Given the description of an element on the screen output the (x, y) to click on. 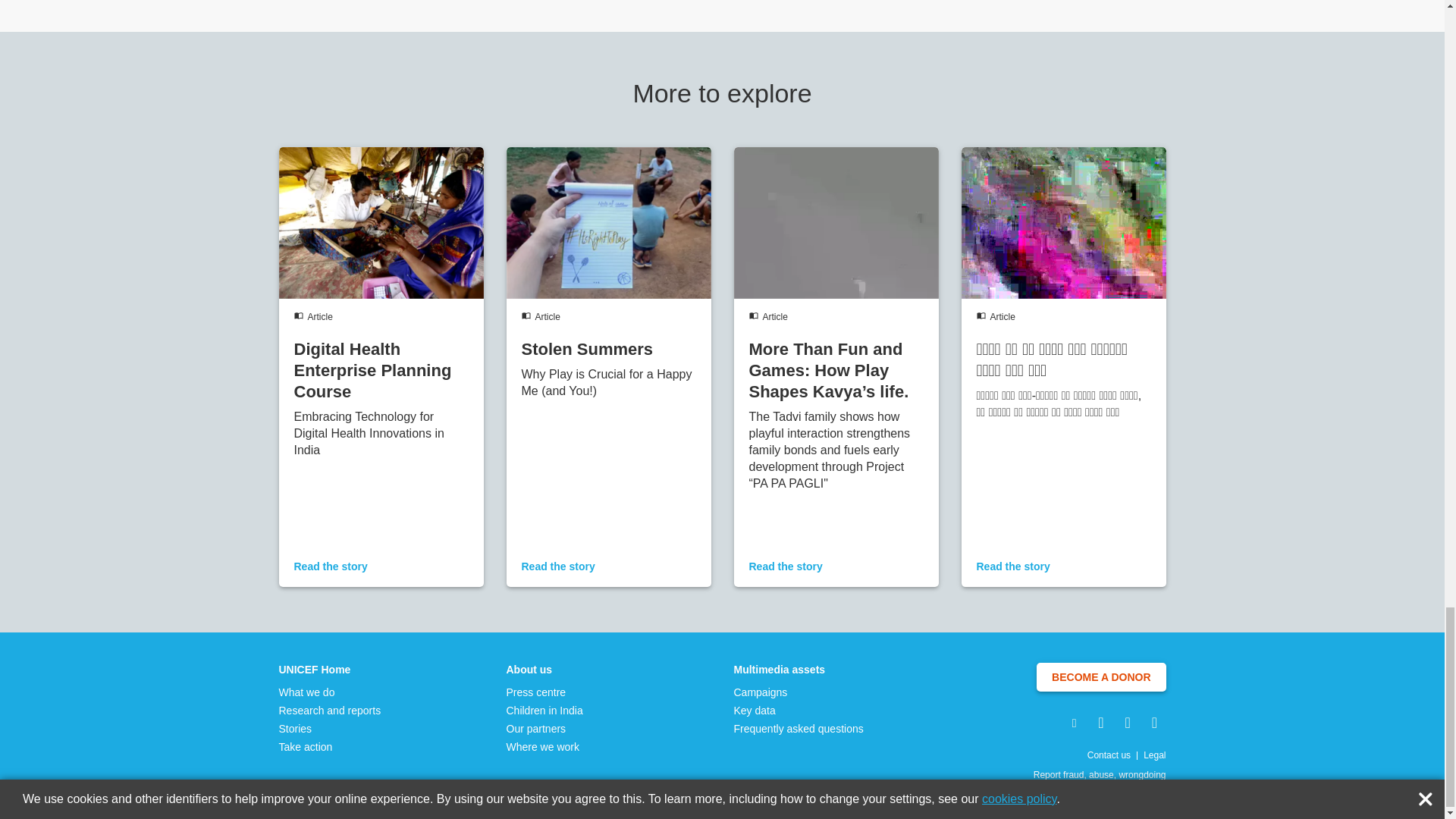
Stories (330, 728)
Take action (330, 746)
UNICEF Home (330, 669)
What we do (330, 692)
What we do (330, 692)
UNICEF Home (330, 669)
Research and reports (330, 710)
